Given the description of an element on the screen output the (x, y) to click on. 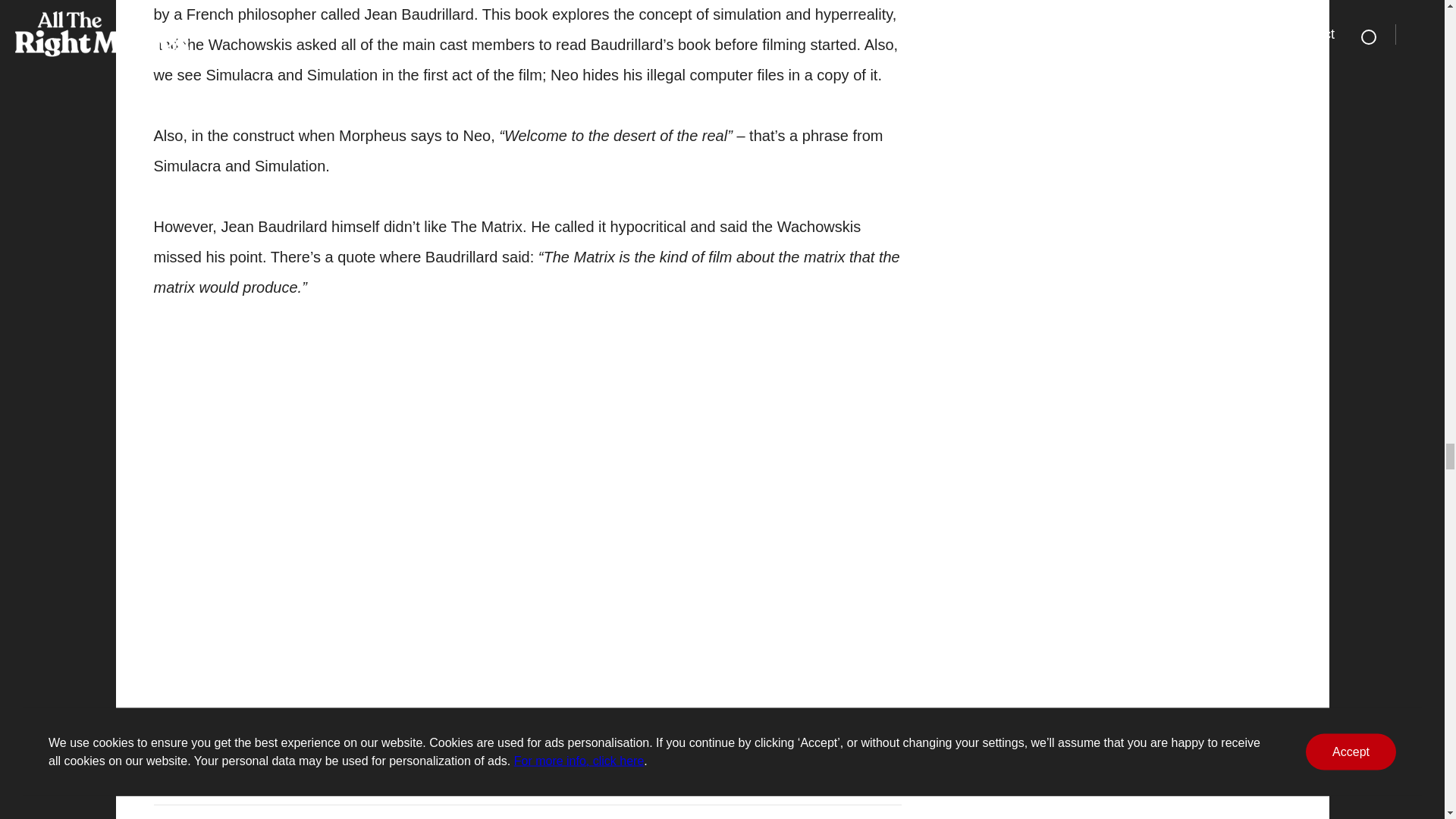
Simulacra and Simulation (395, 469)
